Given the description of an element on the screen output the (x, y) to click on. 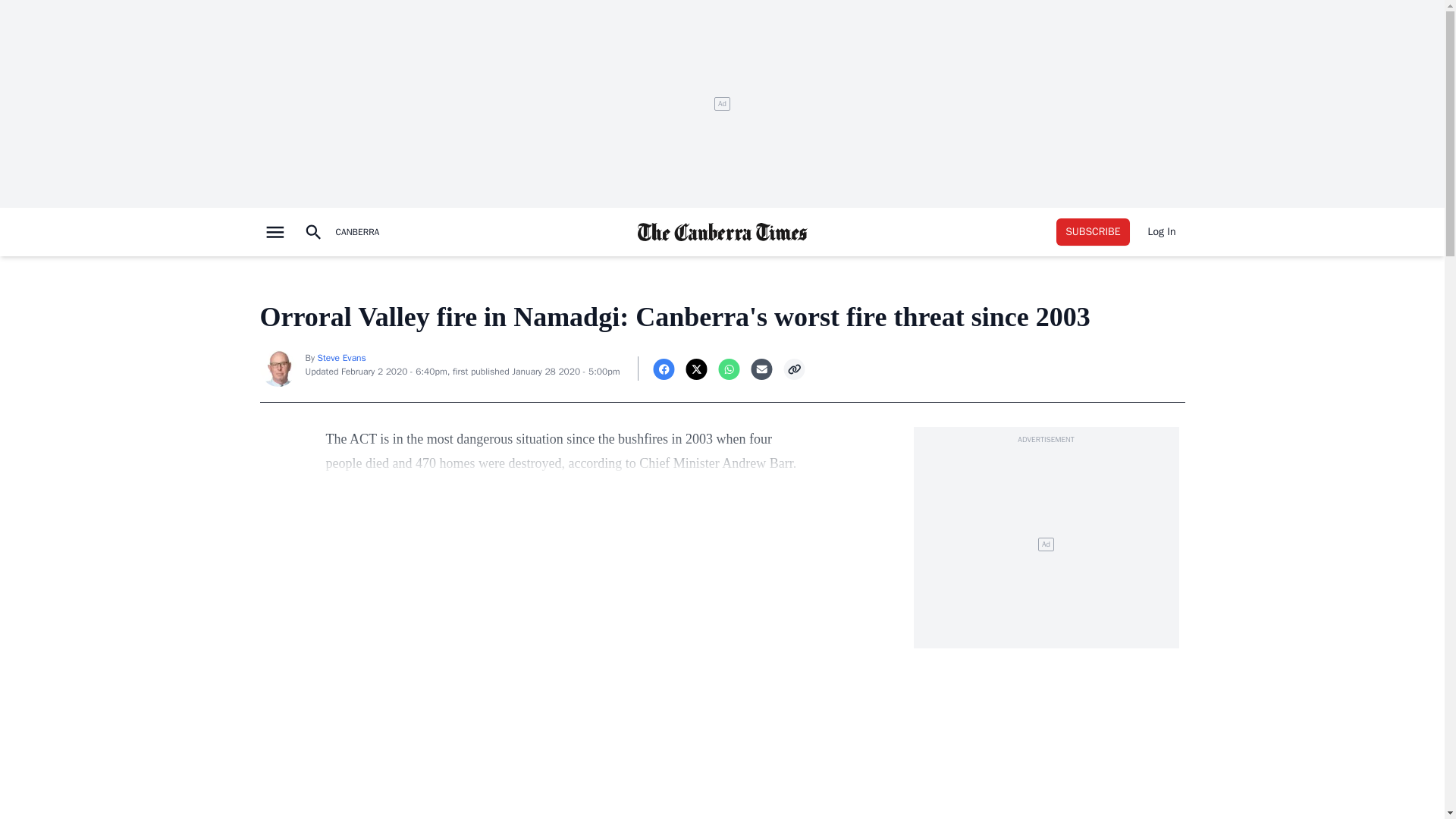
SUBSCRIBE (1093, 231)
Log In (1161, 231)
CANBERRA (357, 232)
